Given the description of an element on the screen output the (x, y) to click on. 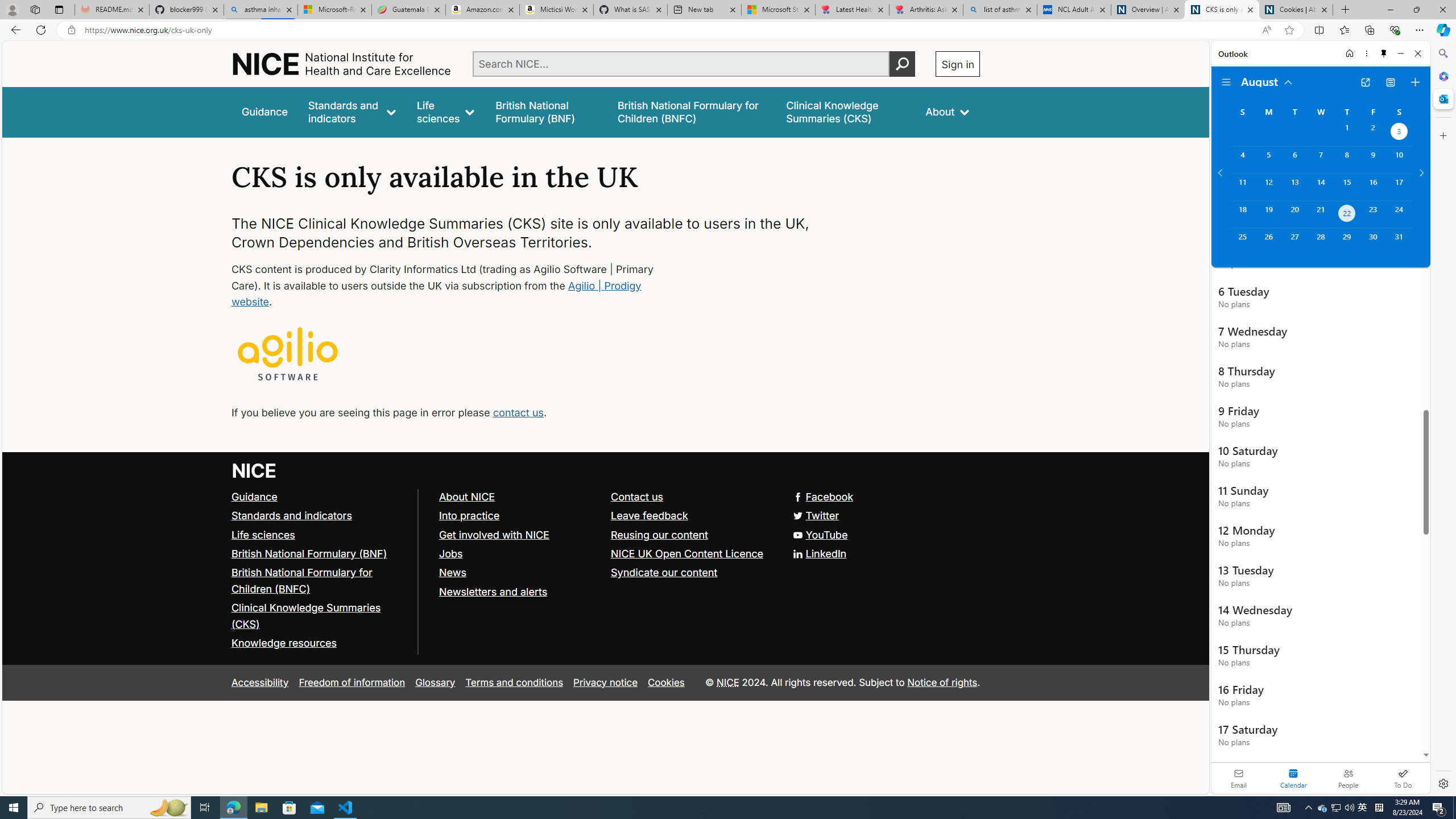
Wednesday, August 21, 2024.  (1320, 214)
CKS is only available in the UK | NICE (1221, 9)
Saturday, August 17, 2024.  (1399, 186)
Cookies (665, 682)
Glossary (434, 682)
Monday, August 12, 2024.  (1268, 186)
About (947, 111)
Leave feedback (649, 515)
Jobs (518, 553)
